Given the description of an element on the screen output the (x, y) to click on. 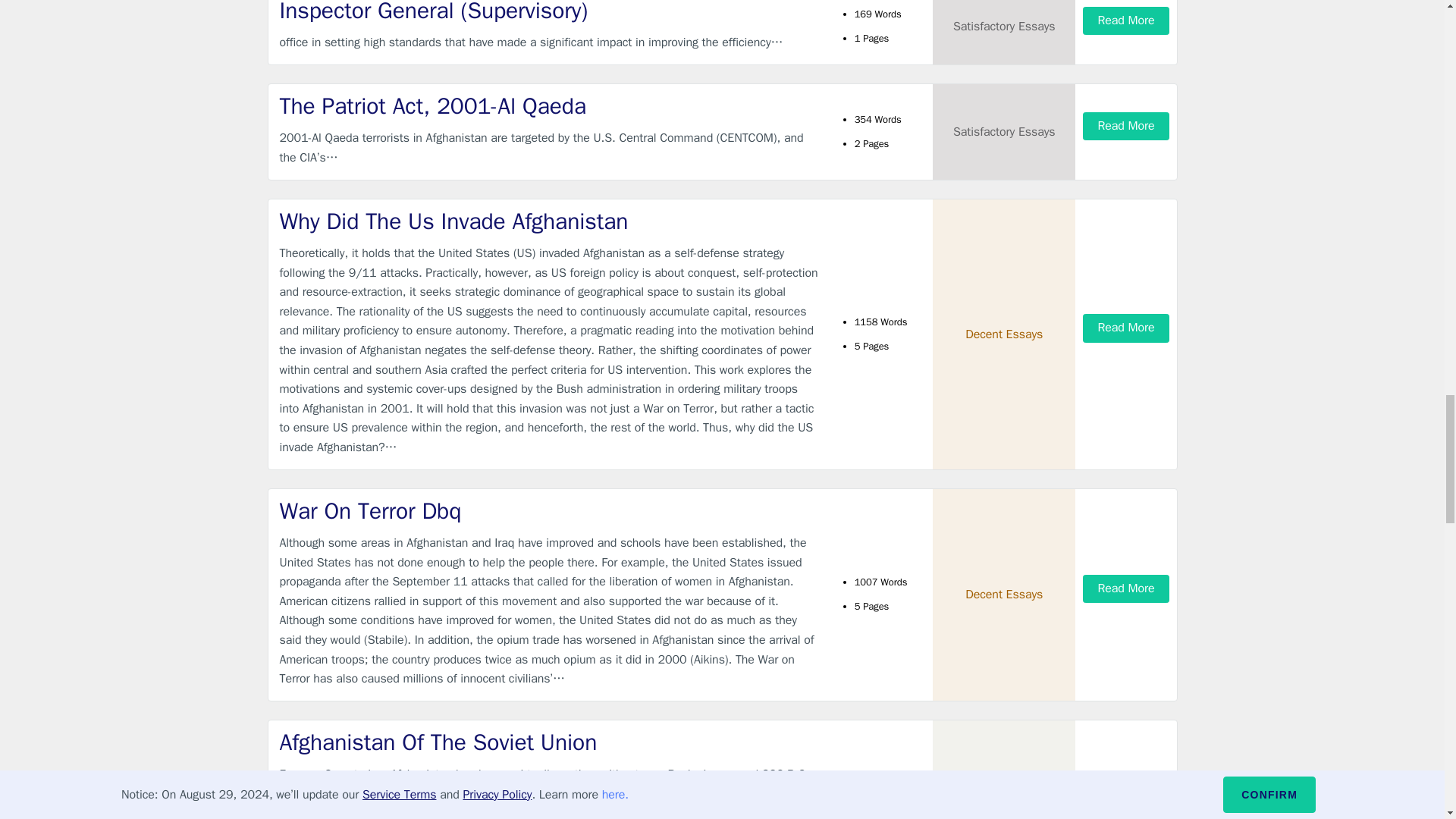
The Patriot Act, 2001-Al Qaeda (548, 106)
Read More (1126, 126)
Read More (1126, 20)
